Given the description of an element on the screen output the (x, y) to click on. 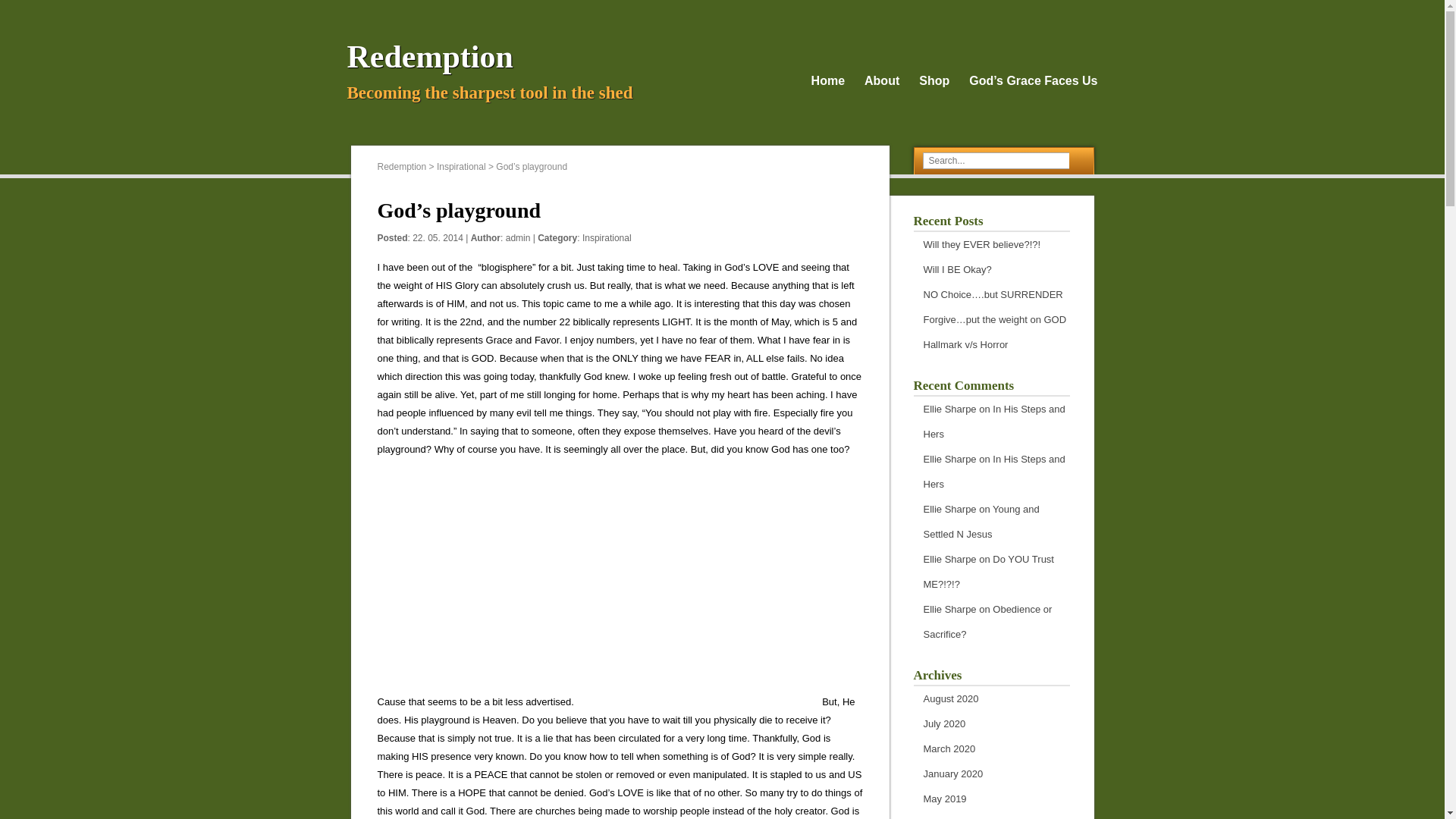
admin (518, 237)
August 2020 (950, 698)
March 2019 (949, 818)
Go to Redemption. (401, 166)
Inspirational (606, 237)
Will they EVER believe?!?! (982, 244)
Shop (933, 80)
About (881, 80)
Obedience or Sacrifice? (987, 621)
Go to the Inspirational category archives. (461, 166)
